Given the description of an element on the screen output the (x, y) to click on. 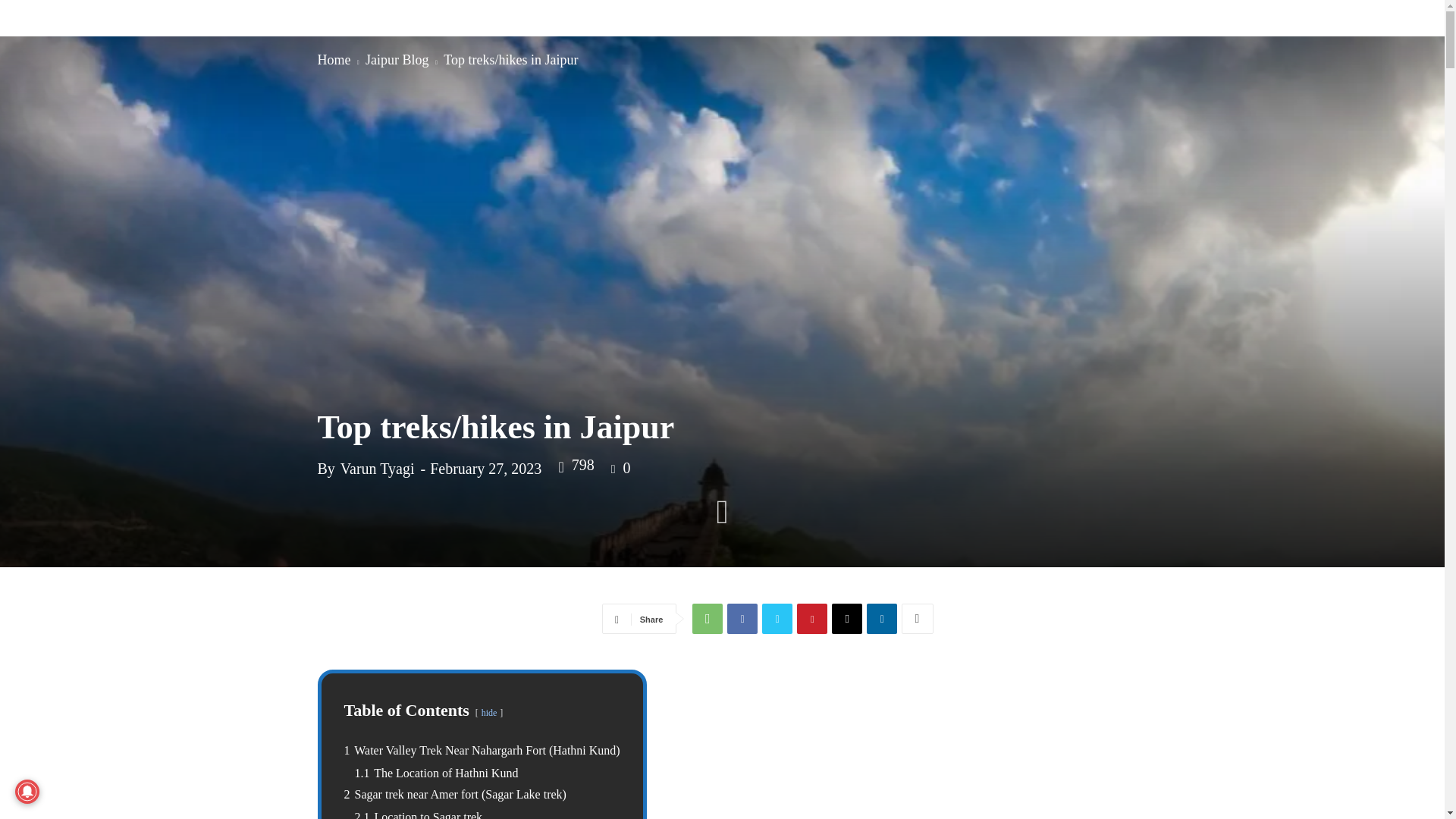
topFacebookLike (638, 616)
Twitter (776, 618)
Facebook (741, 618)
Email (846, 618)
WhatsApp (707, 618)
View all posts in Jaipur Blog (397, 59)
Pinterest (811, 618)
Linkedin (881, 618)
Search (1362, 102)
